Given the description of an element on the screen output the (x, y) to click on. 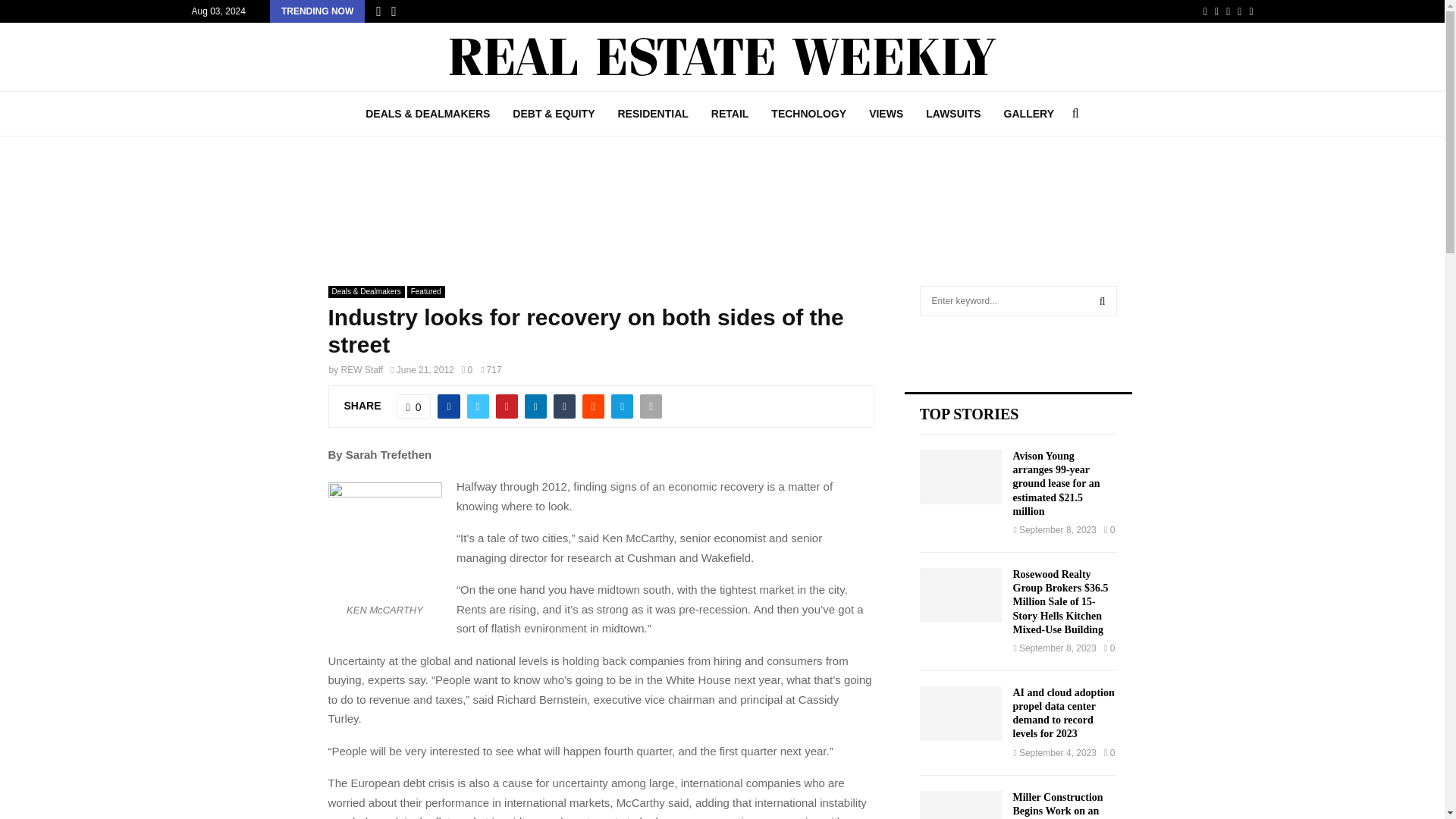
TECHNOLOGY (808, 113)
0 (466, 369)
RESIDENTIAL (652, 113)
Like (413, 405)
0 (413, 405)
REW Staff (362, 369)
GALLERY (1029, 113)
Featured (426, 291)
LAWSUITS (952, 113)
McCarthy Ken 2006x (384, 539)
